Given the description of an element on the screen output the (x, y) to click on. 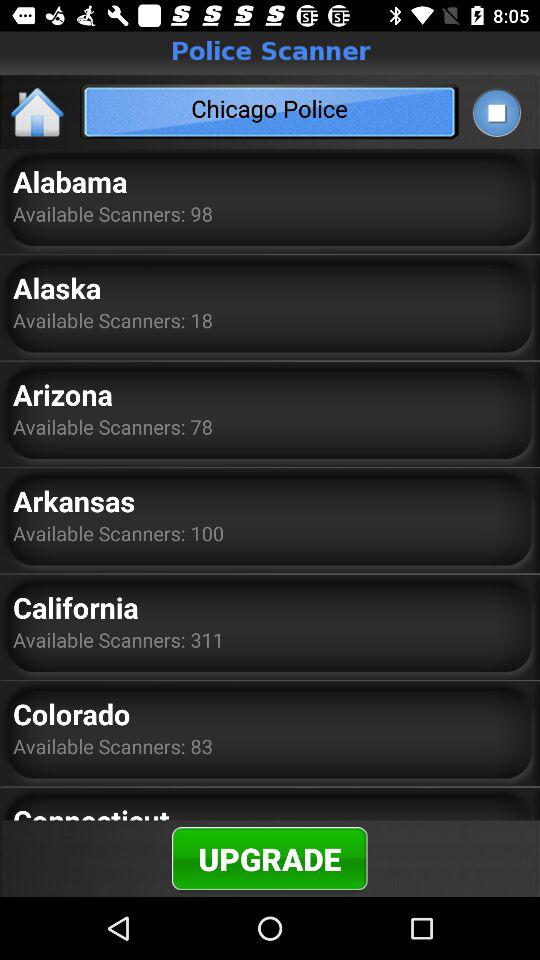
turn on the app below available scanners: 18 item (62, 394)
